Given the description of an element on the screen output the (x, y) to click on. 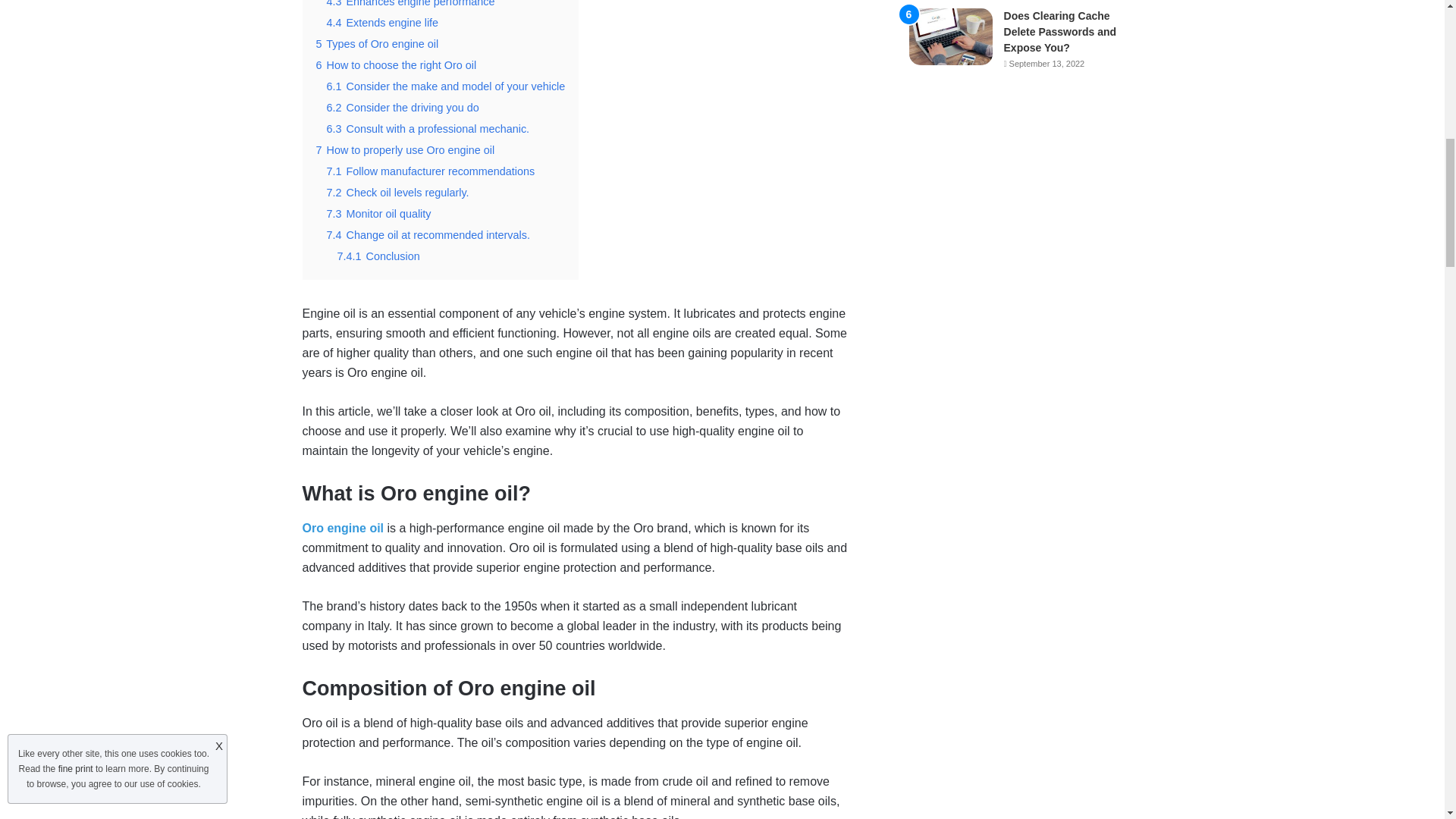
6.3 Consult with a professional mechanic. (427, 128)
7.4 Change oil at recommended intervals. (427, 234)
6 How to choose the right Oro oil (395, 64)
6.1 Consider the make and model of your vehicle (445, 86)
5 Types of Oro engine oil (376, 43)
Oro engine oil (342, 527)
4.4 Extends engine life (382, 22)
7.1 Follow manufacturer recommendations (430, 171)
4.3 Enhances engine performance (410, 3)
7.2 Check oil levels regularly. (397, 192)
